Given the description of an element on the screen output the (x, y) to click on. 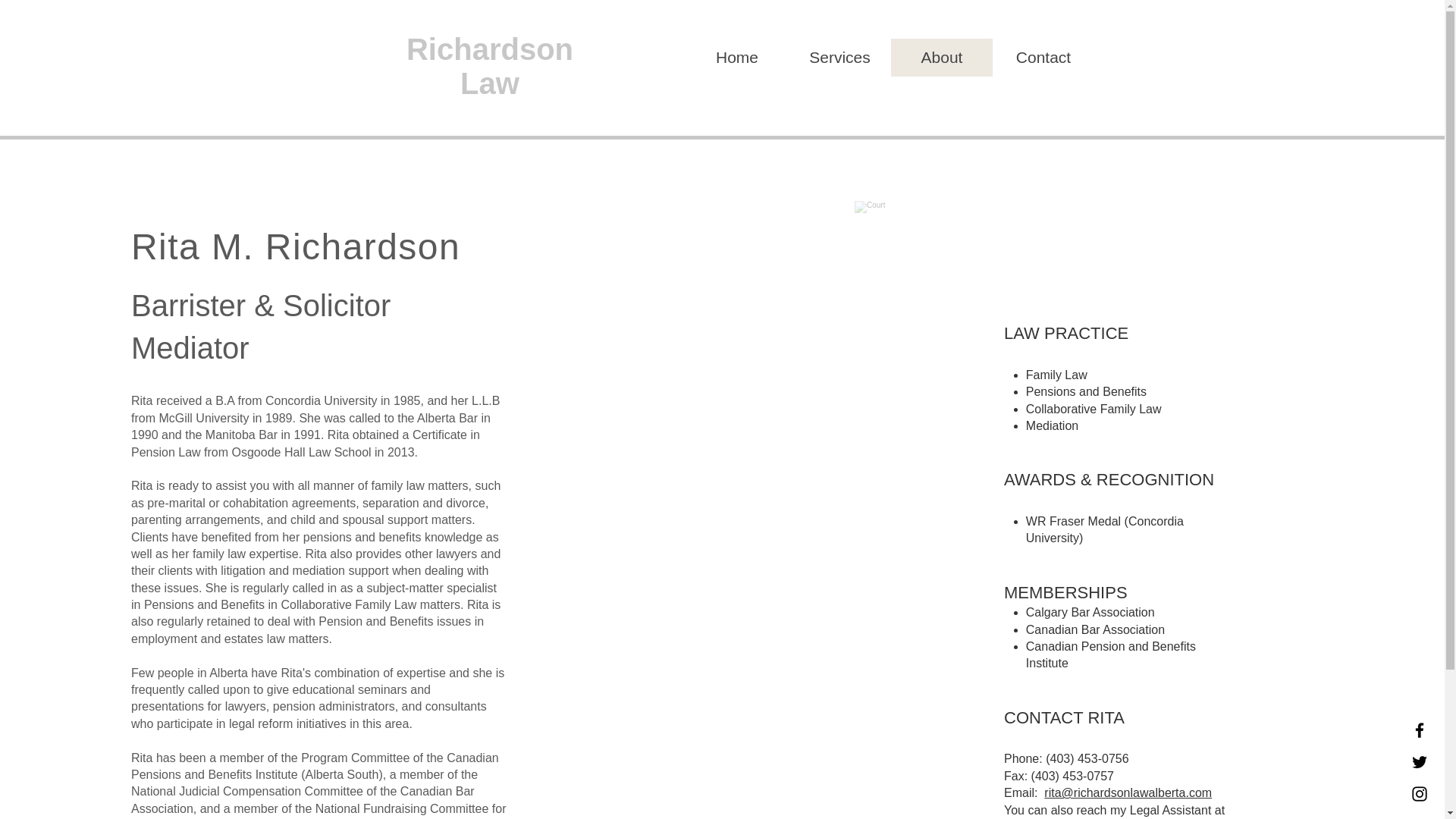
Contact (1042, 57)
Services (840, 57)
About (940, 57)
Home (736, 57)
